Given the description of an element on the screen output the (x, y) to click on. 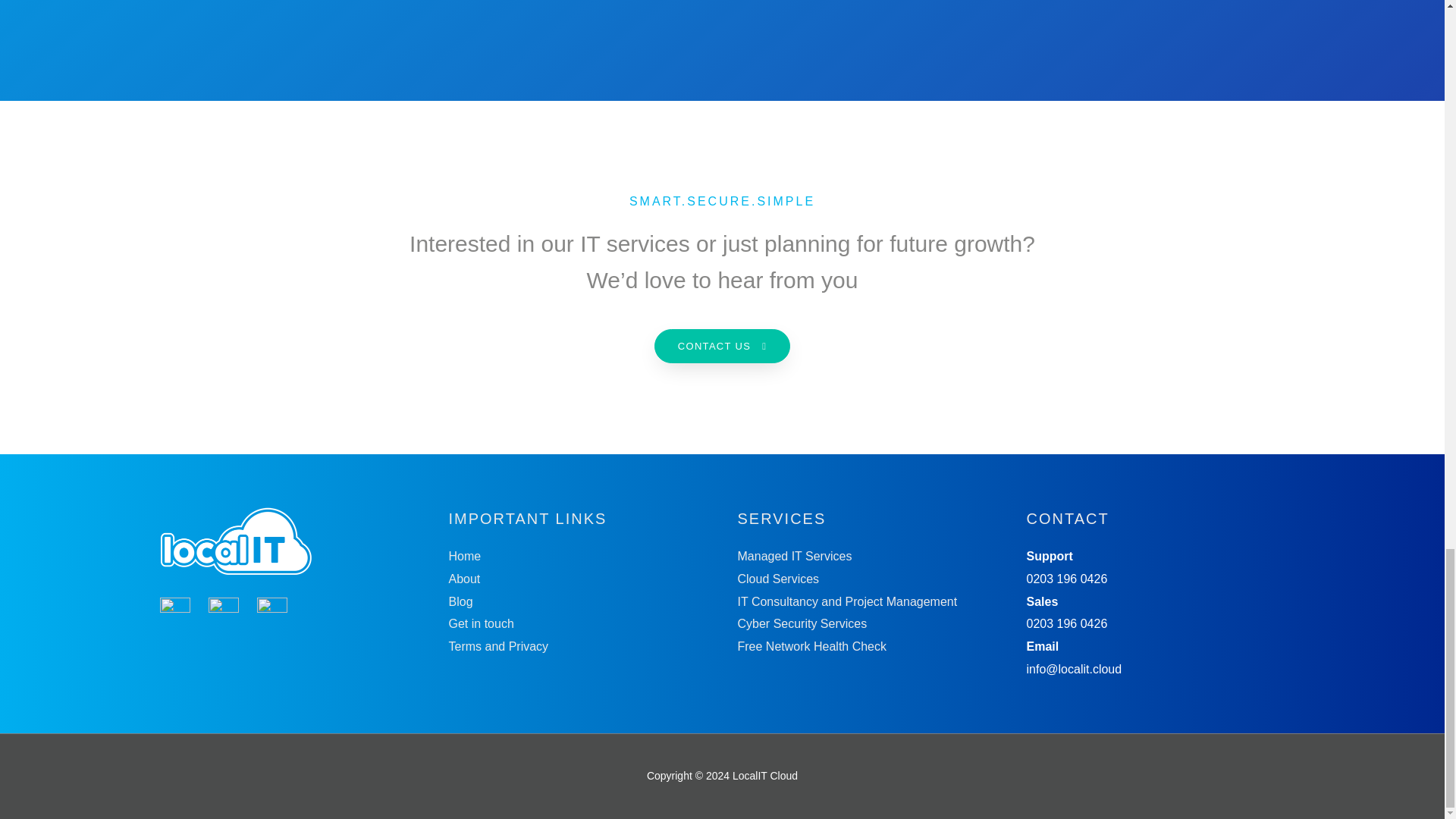
CONTACT US (721, 346)
Free Network Health Check (811, 645)
Get in touch (480, 623)
Terms and Privacy (498, 645)
Home (464, 555)
Cloud Services (777, 578)
Cyber Security Services (801, 623)
IT Consultancy and Project Management (846, 601)
Blog (460, 601)
About (464, 578)
Managed IT Services (793, 555)
